Given the description of an element on the screen output the (x, y) to click on. 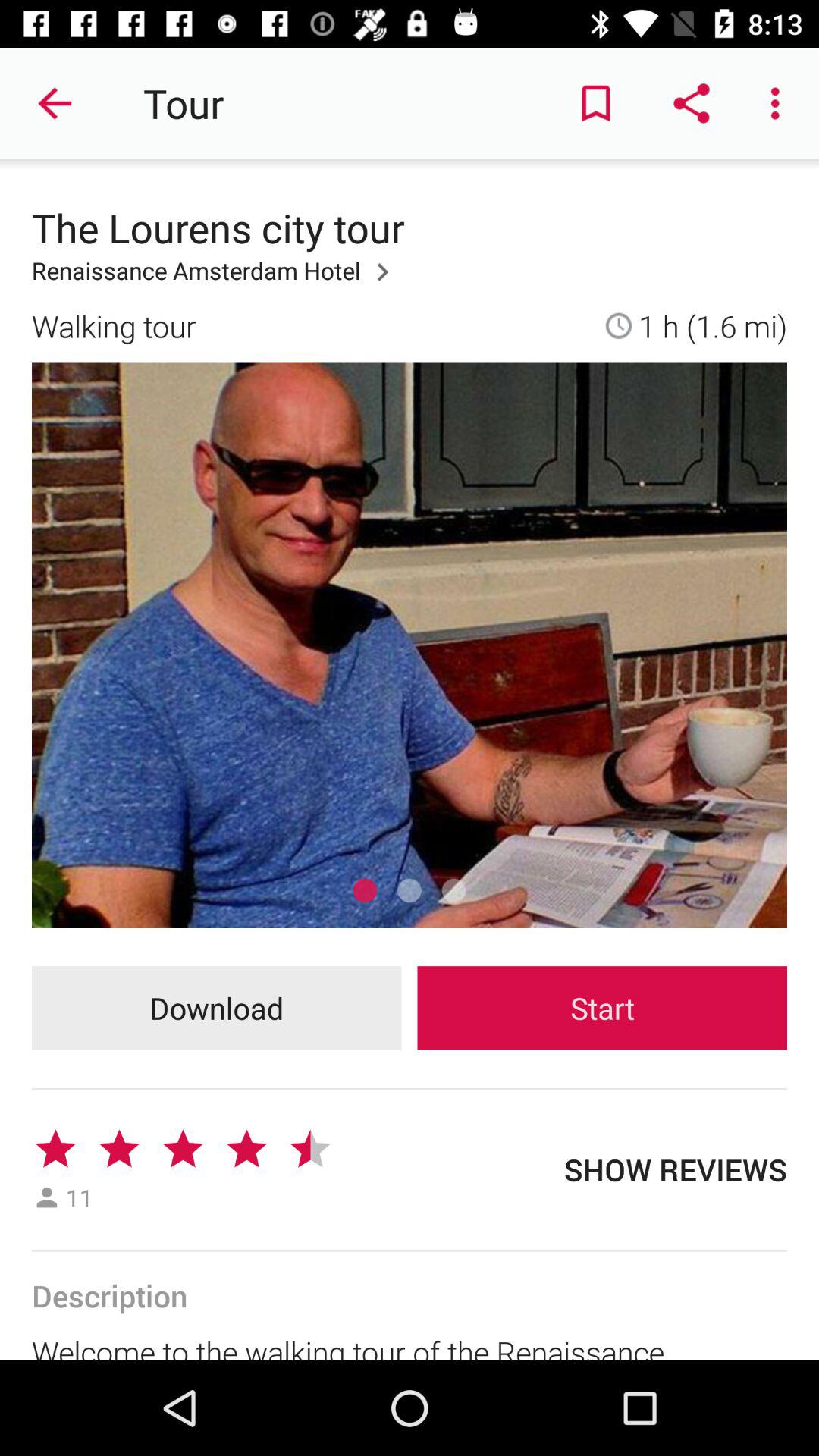
return to previous page (55, 103)
